Given the description of an element on the screen output the (x, y) to click on. 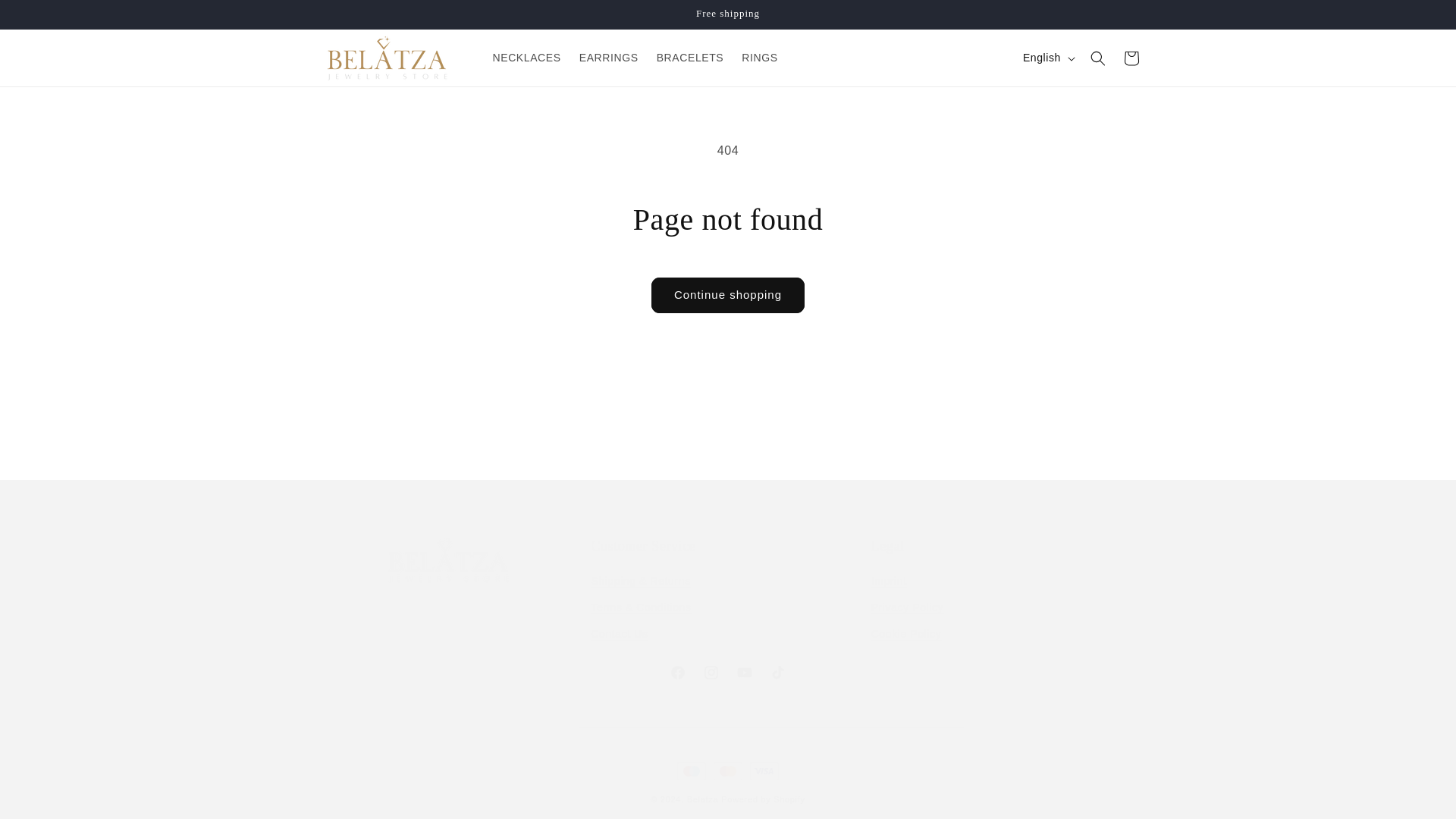
Facebook (677, 672)
Cookie Policy (1007, 592)
Cart (906, 633)
English (1131, 57)
Instagram (1047, 58)
Privacy Policy (711, 672)
Imprint (906, 607)
Continue shopping (888, 582)
Powered by Shopify (727, 294)
RINGS (762, 798)
NECKLACES (759, 57)
EARRINGS (526, 57)
YouTube (727, 672)
